Given the description of an element on the screen output the (x, y) to click on. 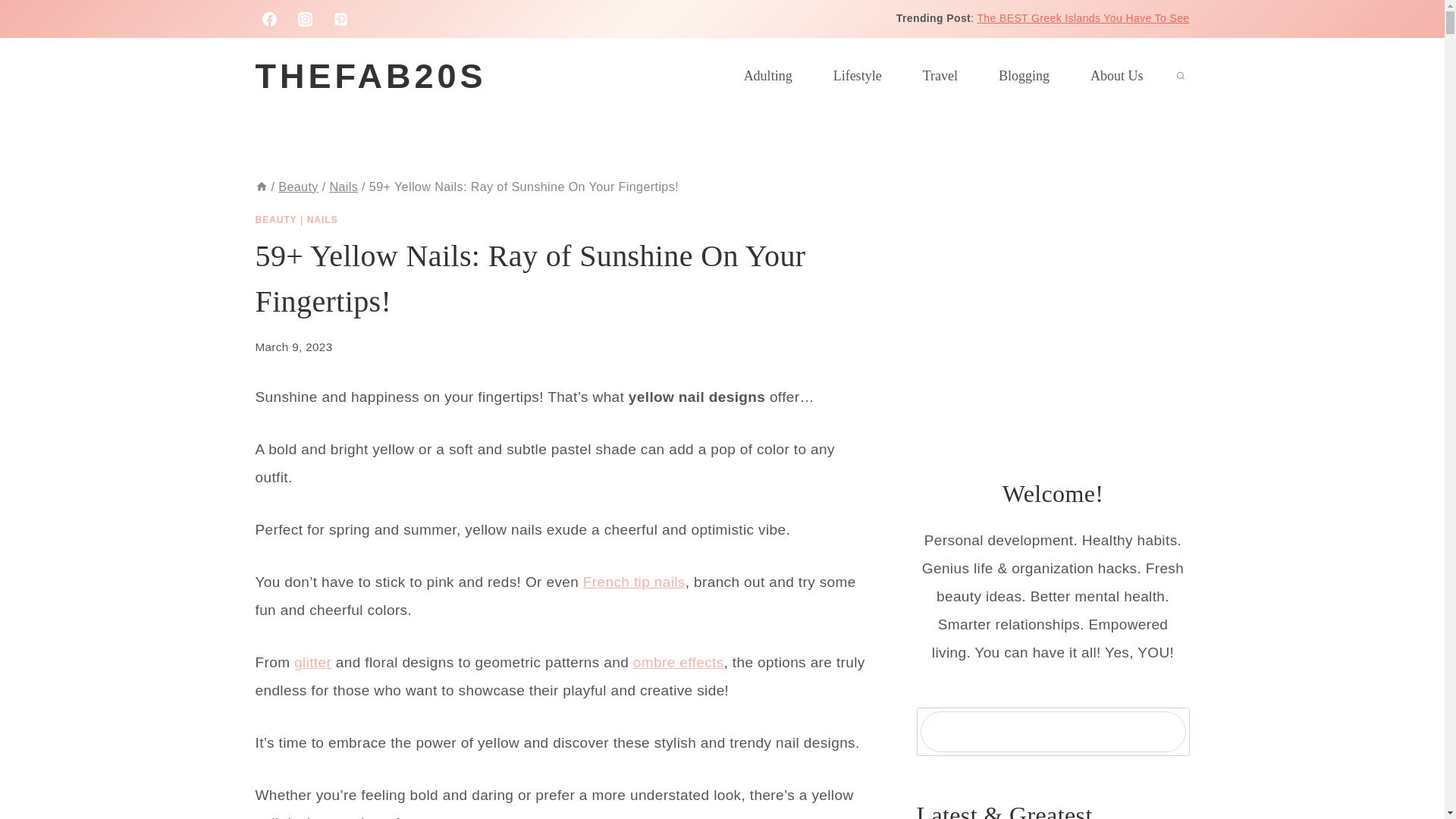
BEAUTY (275, 219)
Adulting (767, 76)
THEFAB20S (370, 76)
Travel (940, 76)
Lifestyle (857, 76)
French tip nails (634, 581)
The BEST Greek Islands You Have To See (1082, 18)
ombre effects (678, 662)
Blogging (1024, 76)
Beauty (298, 186)
Nails (343, 186)
glitter (312, 662)
NAILS (322, 219)
Home (260, 186)
About Us (1116, 76)
